Given the description of an element on the screen output the (x, y) to click on. 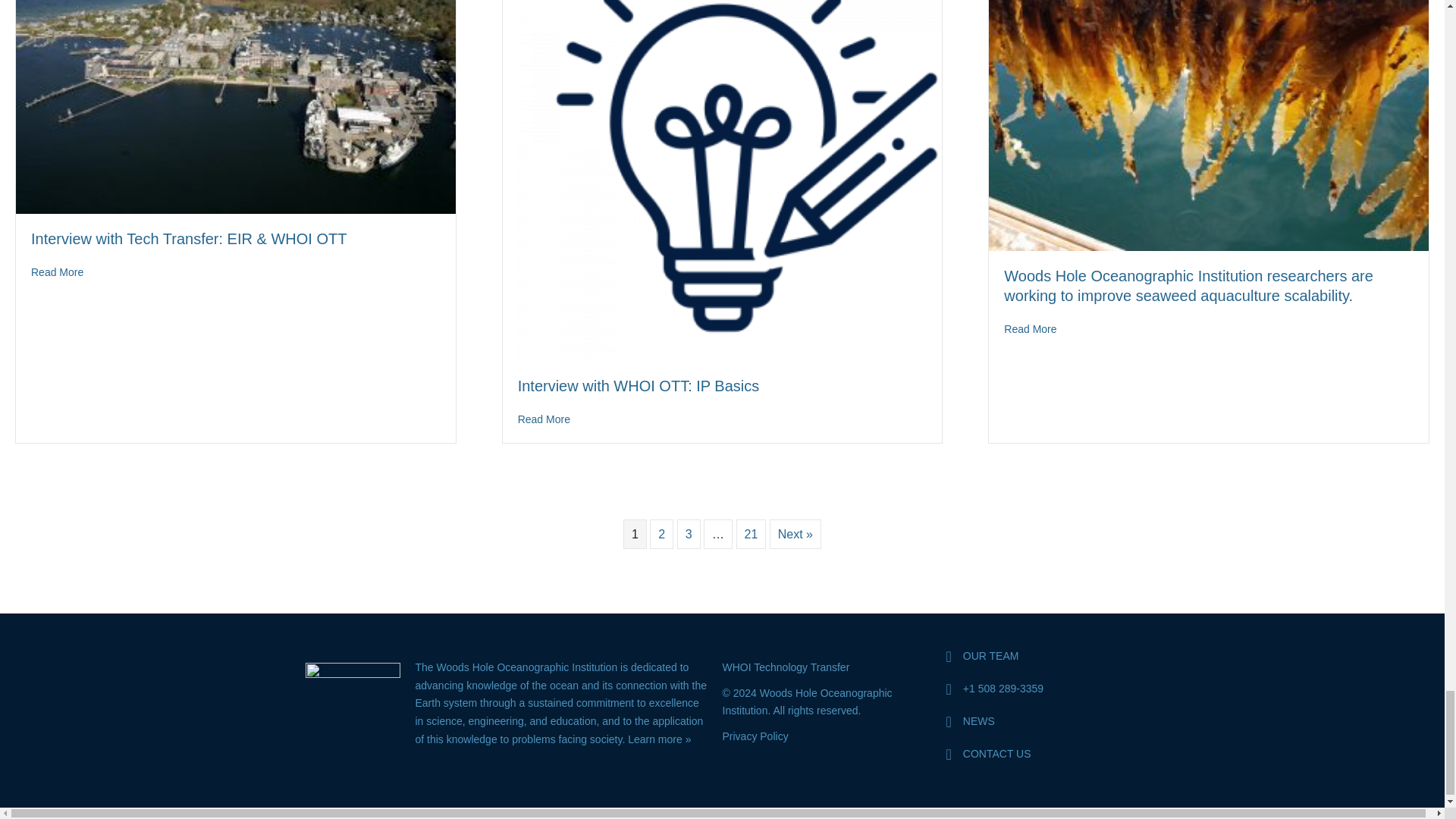
Interview with WHOI OTT: IP Basics (639, 385)
Interview with WHOI OTT: IP Basics (722, 139)
Interview with WHOI OTT: IP Basics (544, 419)
